Given the description of an element on the screen output the (x, y) to click on. 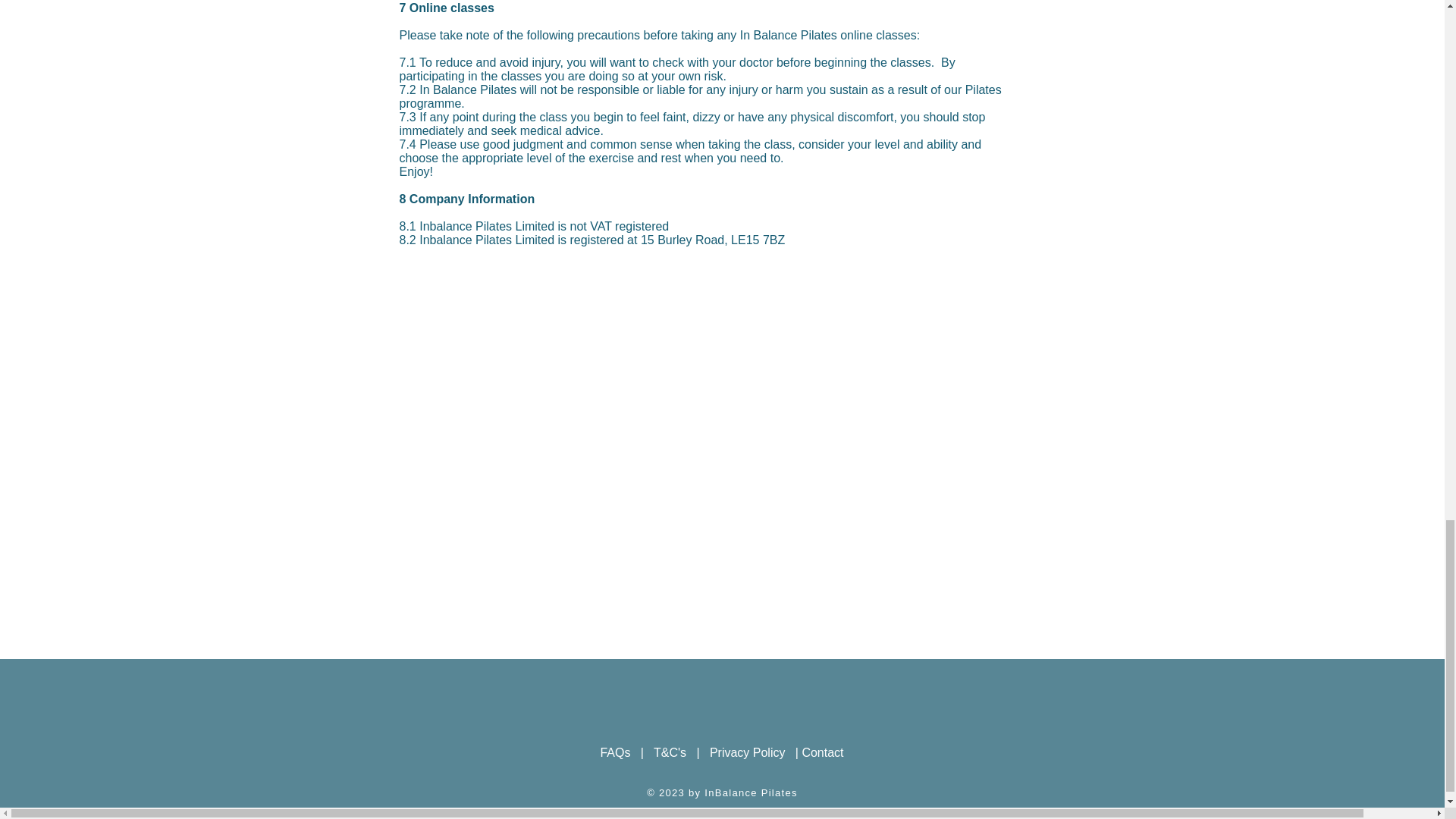
Contact (822, 752)
Privacy Policy (748, 752)
FAQs (614, 752)
